Given the description of an element on the screen output the (x, y) to click on. 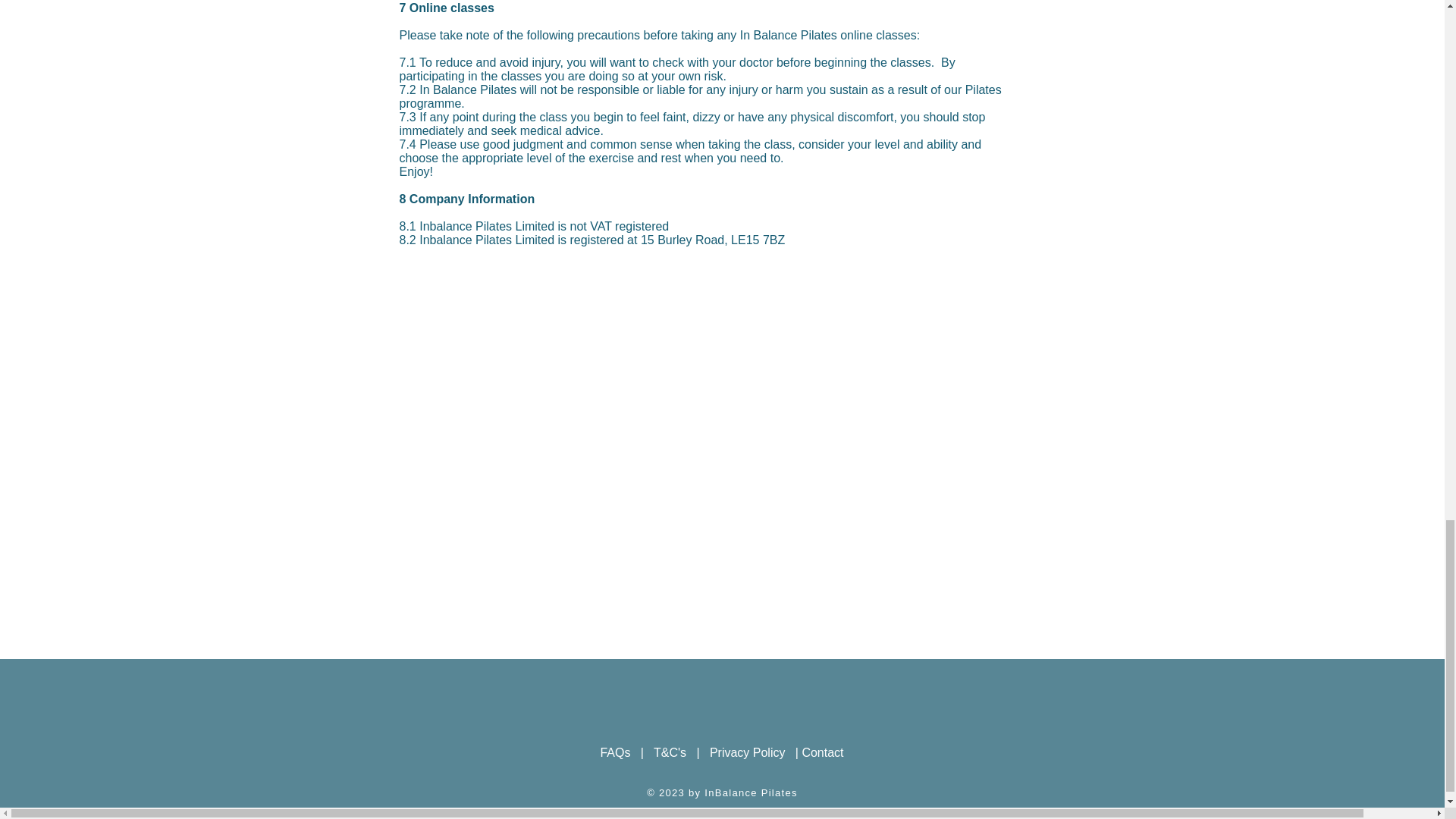
Contact (822, 752)
Privacy Policy (748, 752)
FAQs (614, 752)
